Given the description of an element on the screen output the (x, y) to click on. 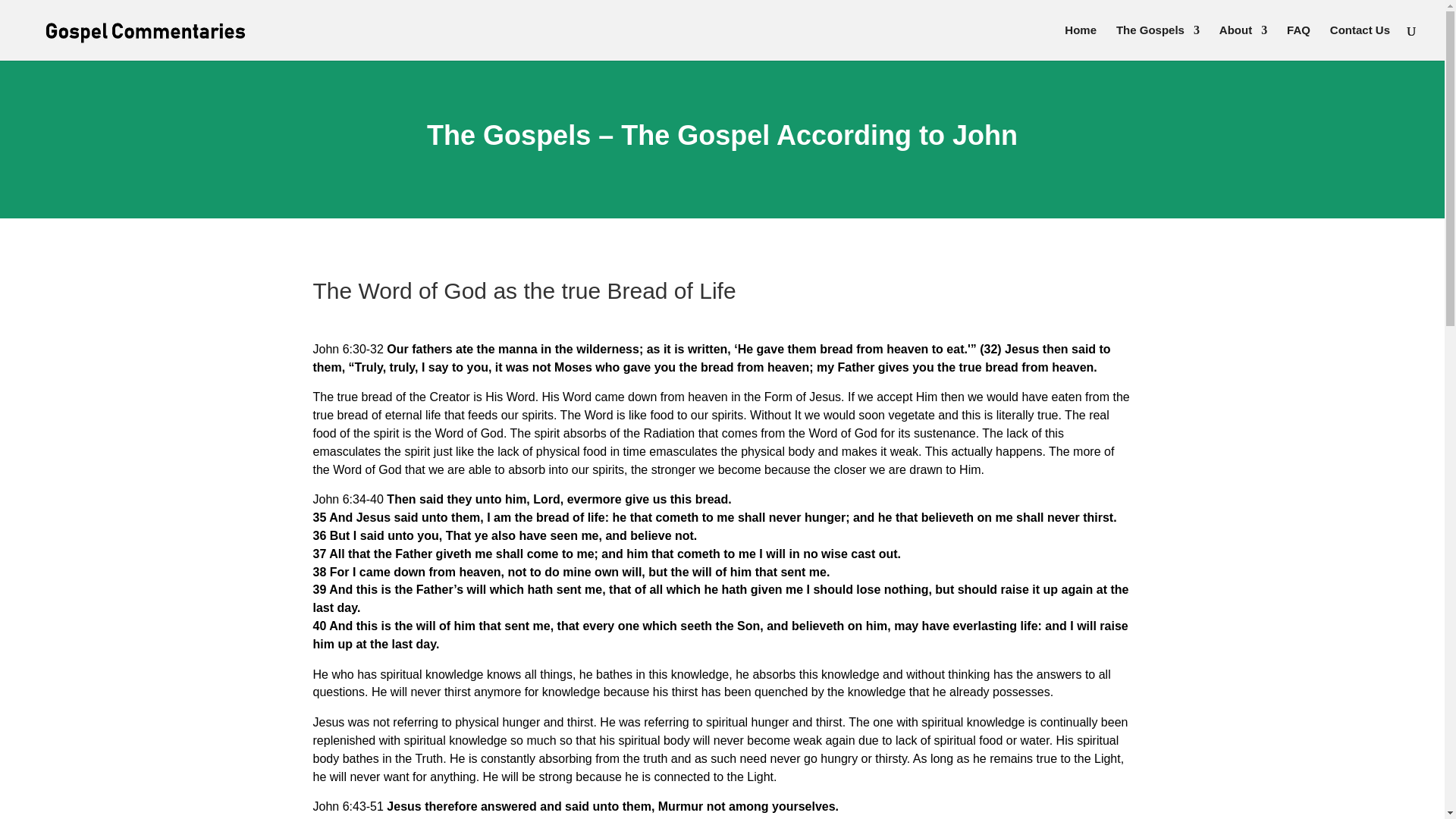
The Gospels (1157, 42)
Contact Us (1360, 42)
About (1243, 42)
Home (1080, 42)
